Given the description of an element on the screen output the (x, y) to click on. 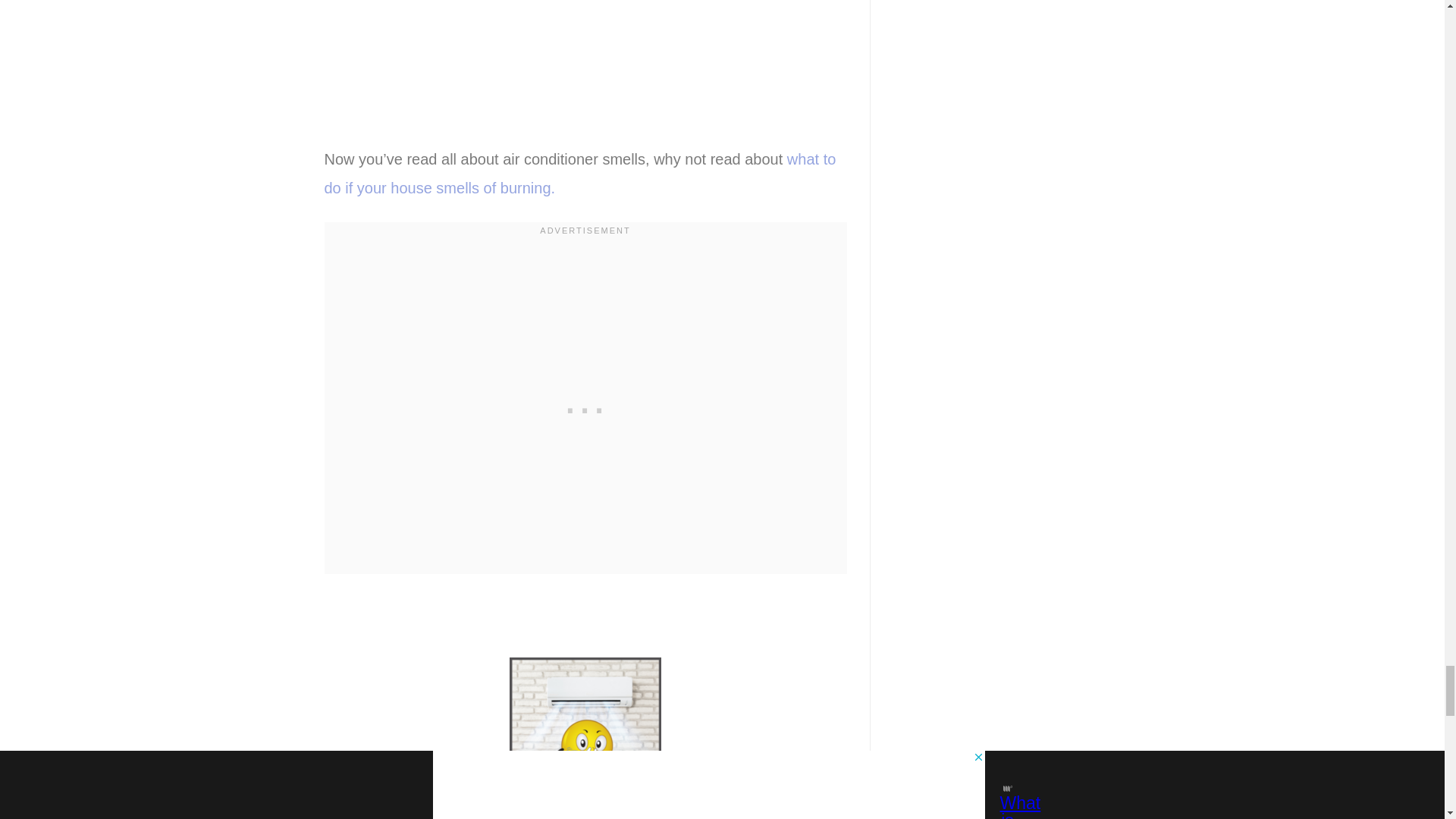
what to do if your house smells of burning. (579, 173)
